Given the description of an element on the screen output the (x, y) to click on. 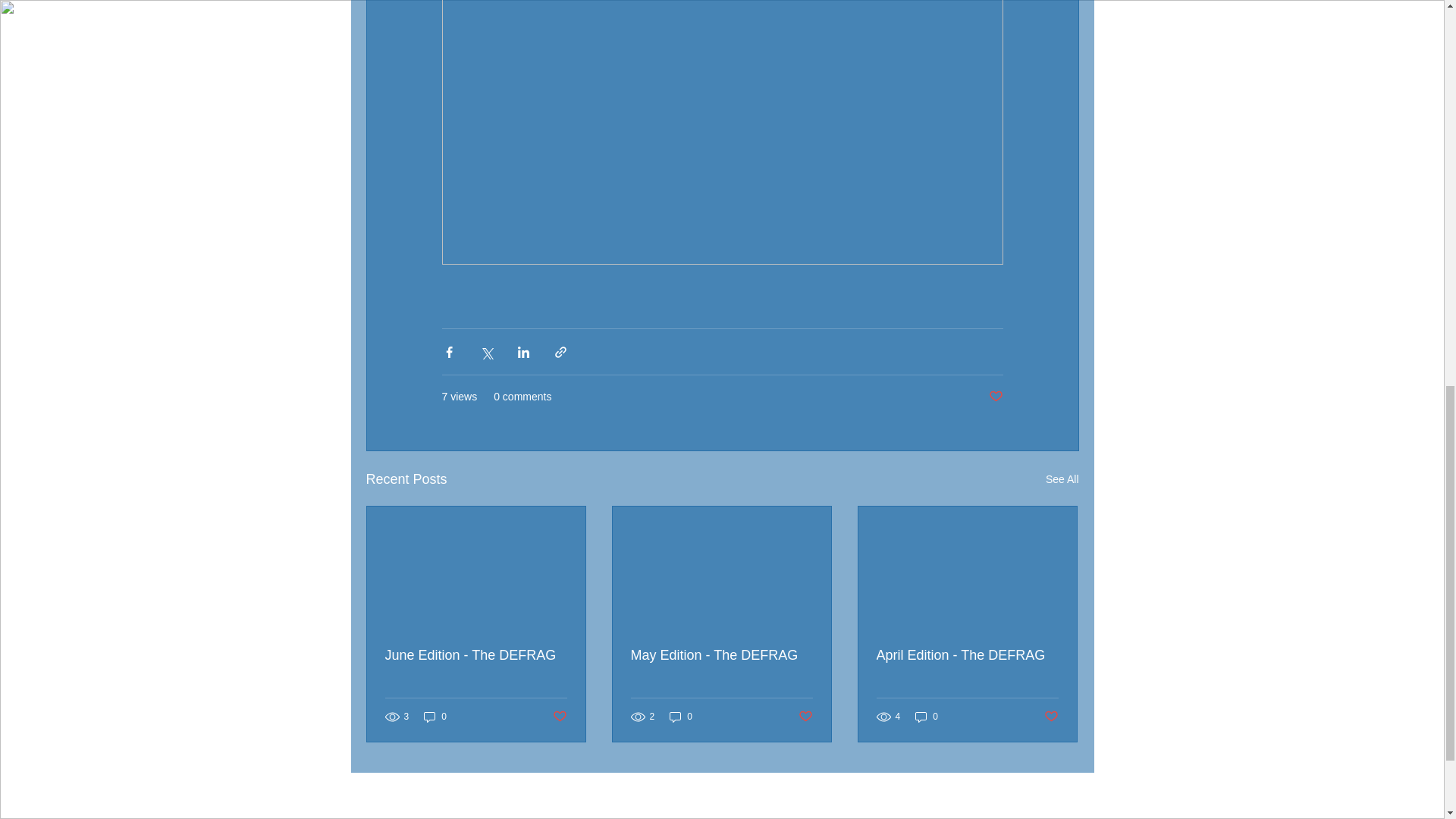
0 (926, 716)
Post not marked as liked (1050, 716)
Post not marked as liked (558, 716)
April Edition - The DEFRAG (967, 655)
Post not marked as liked (804, 716)
See All (1061, 479)
Post not marked as liked (995, 396)
0 (435, 716)
June Edition - The DEFRAG (476, 655)
May Edition - The DEFRAG (721, 655)
0 (681, 716)
